Given the description of an element on the screen output the (x, y) to click on. 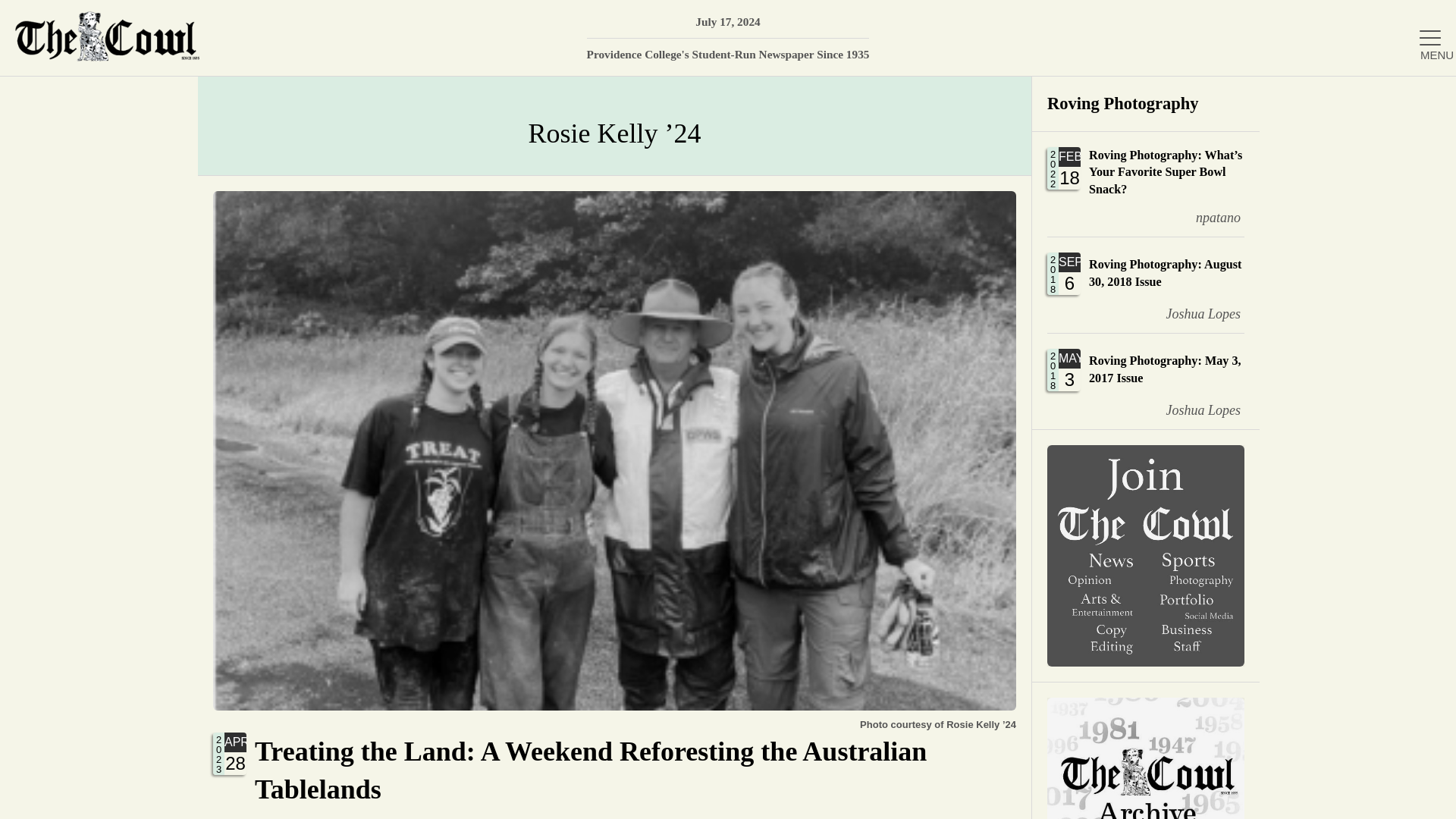
Roving Photography: May 3, 2017 Issue (1145, 381)
About Us (1275, 201)
Joshua Lopes (1191, 409)
News (1275, 251)
Search (1422, 96)
Letters to the Editor (1275, 497)
Sports (1275, 448)
Search (1422, 96)
npatano (1145, 381)
Portfolio (1206, 217)
Search (1275, 399)
Roving Photography: August 30, 2018 Issue (1422, 96)
Home (1145, 284)
Roving Photography (1275, 152)
